Given the description of an element on the screen output the (x, y) to click on. 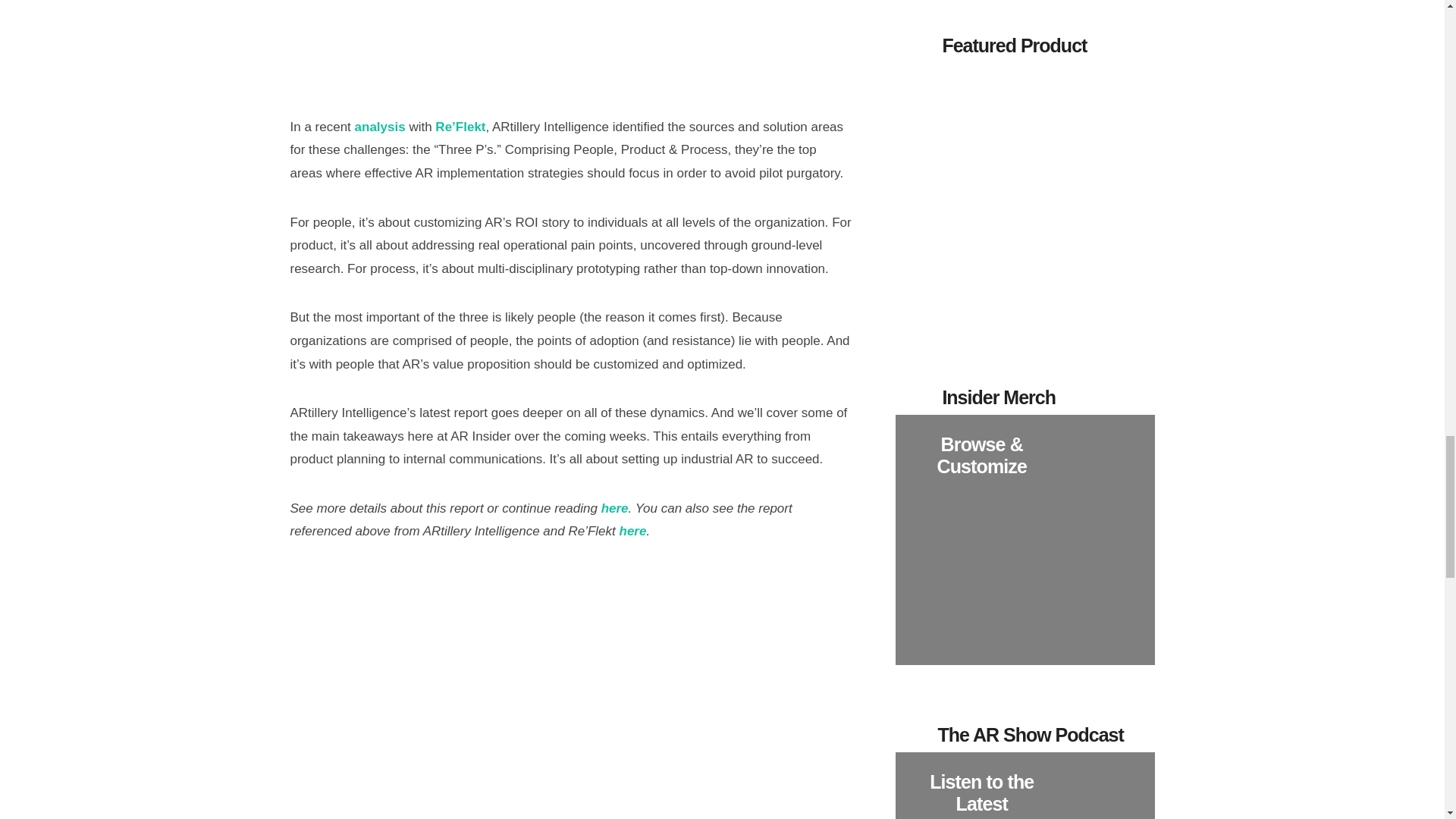
here (614, 508)
analysis (380, 126)
here (633, 531)
